Given the description of an element on the screen output the (x, y) to click on. 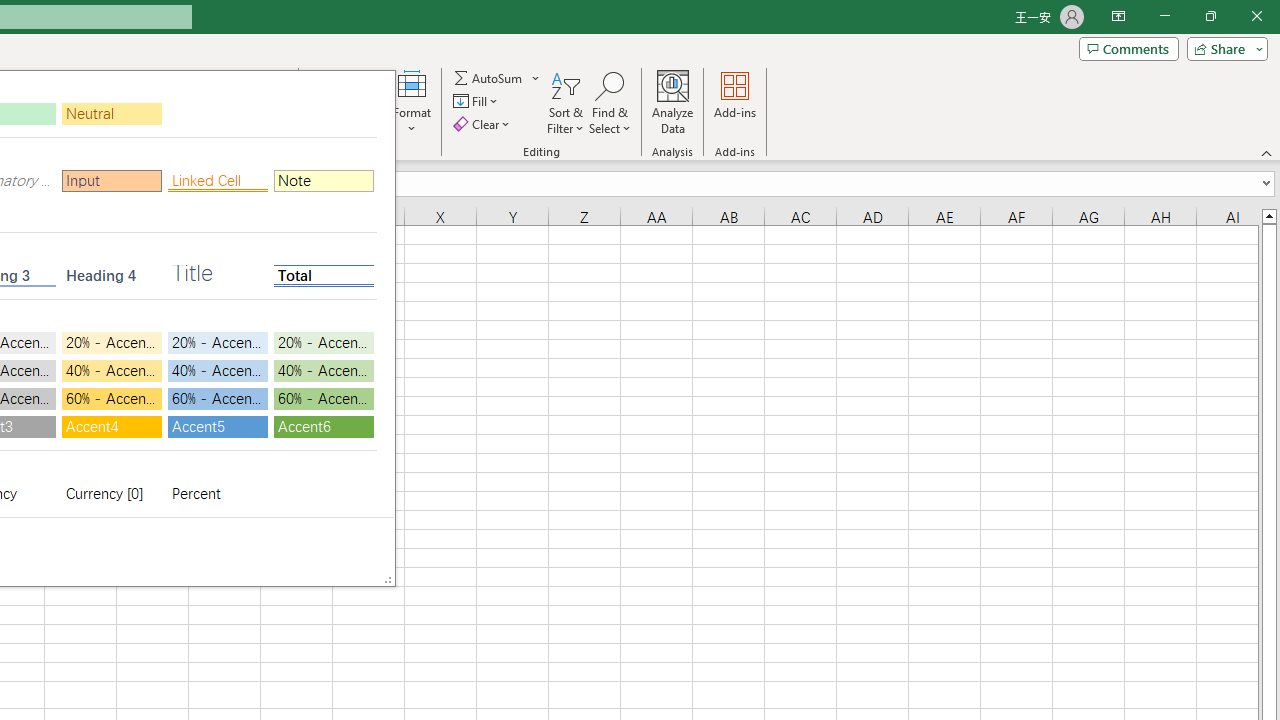
Sum (489, 78)
